Given the description of an element on the screen output the (x, y) to click on. 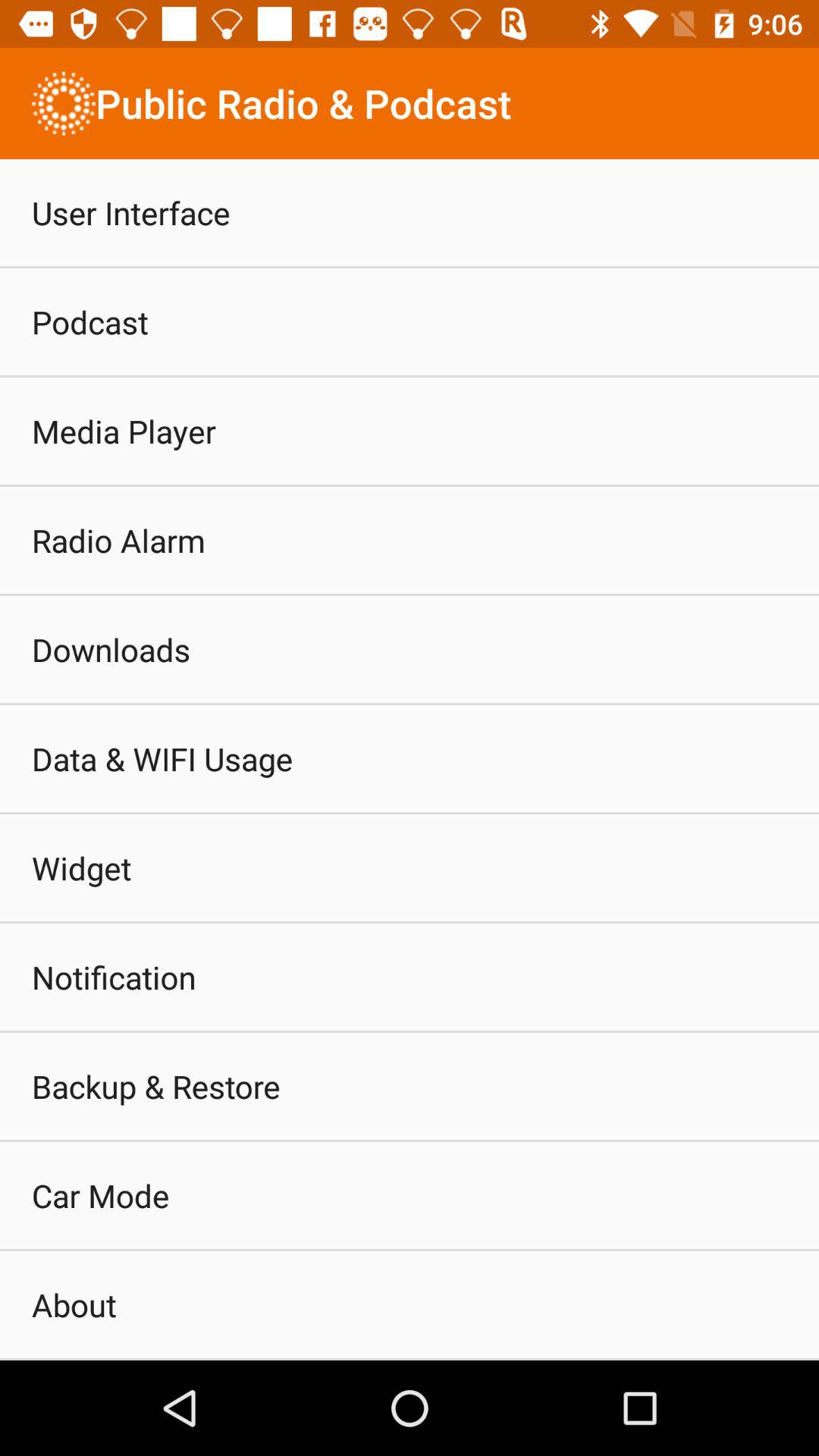
turn off the user interface item (130, 212)
